Given the description of an element on the screen output the (x, y) to click on. 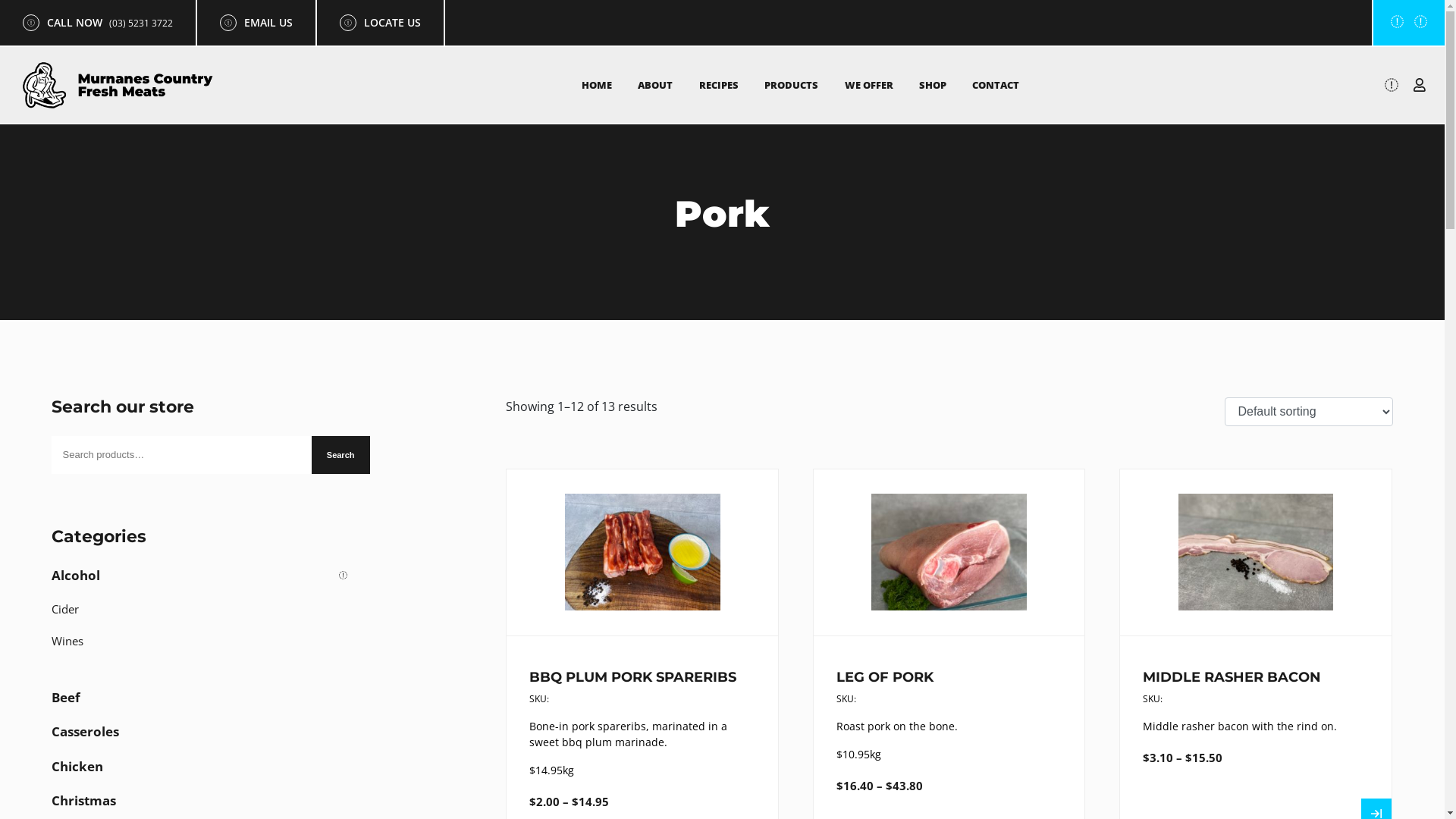
RECIPES Element type: text (718, 84)
ABOUT Element type: text (655, 84)
Cider Element type: text (202, 612)
HOME Element type: text (596, 84)
Chicken Element type: text (202, 770)
Wines Element type: text (202, 644)
Beef Element type: text (202, 701)
Casseroles Element type: text (202, 735)
SHOP Element type: text (932, 84)
WE OFFER Element type: text (868, 84)
CONTACT Element type: text (995, 84)
Search Element type: text (340, 454)
PRODUCTS Element type: text (791, 84)
Alcohol Element type: text (202, 579)
Christmas Element type: text (202, 804)
